Given the description of an element on the screen output the (x, y) to click on. 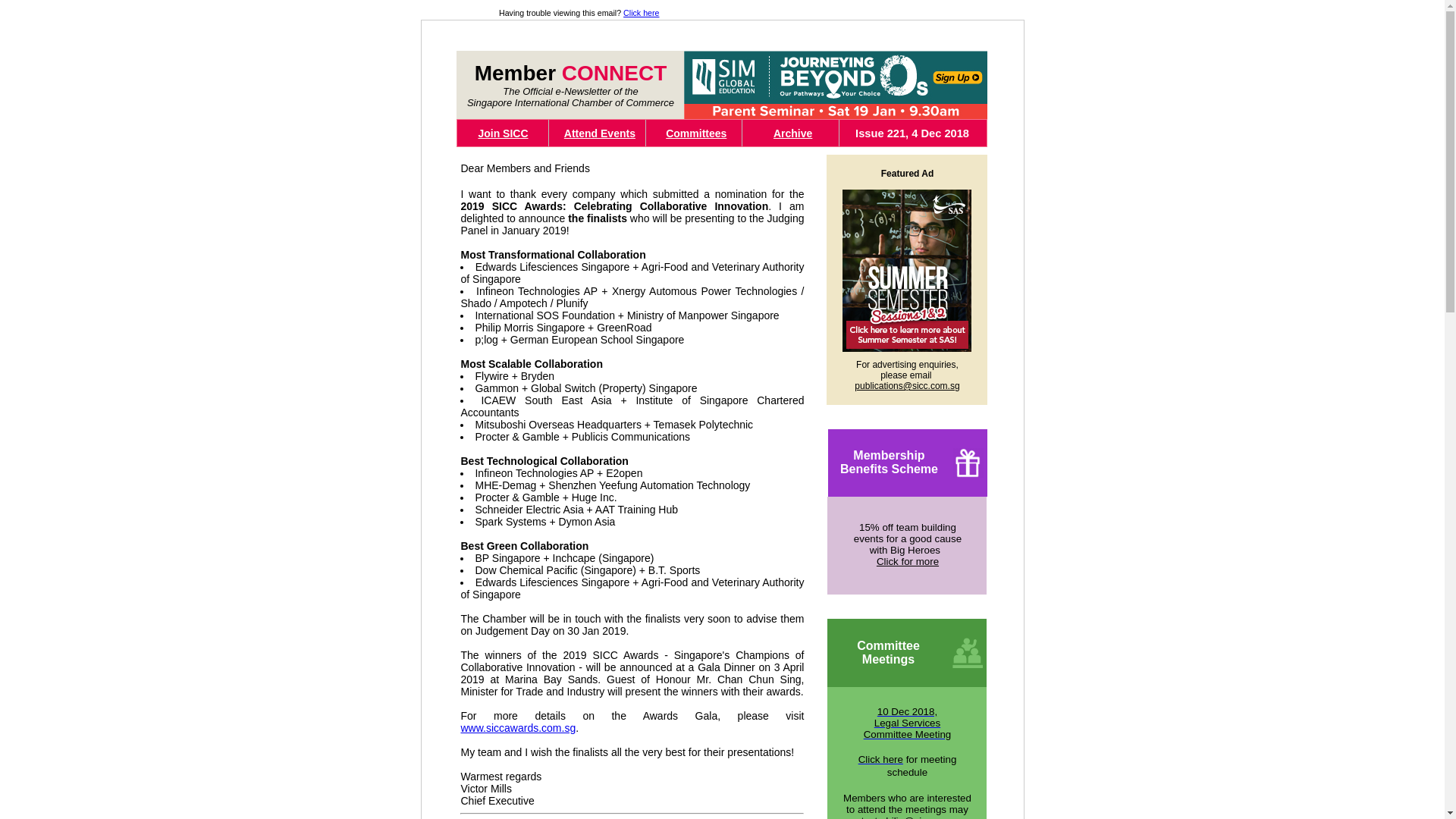
Committees (695, 133)
Click here (880, 758)
Archive (792, 133)
Click for more (907, 561)
Join SICC (502, 133)
www.siccawards.com.sg (517, 727)
Click here (641, 12)
Attend Events (907, 722)
